Given the description of an element on the screen output the (x, y) to click on. 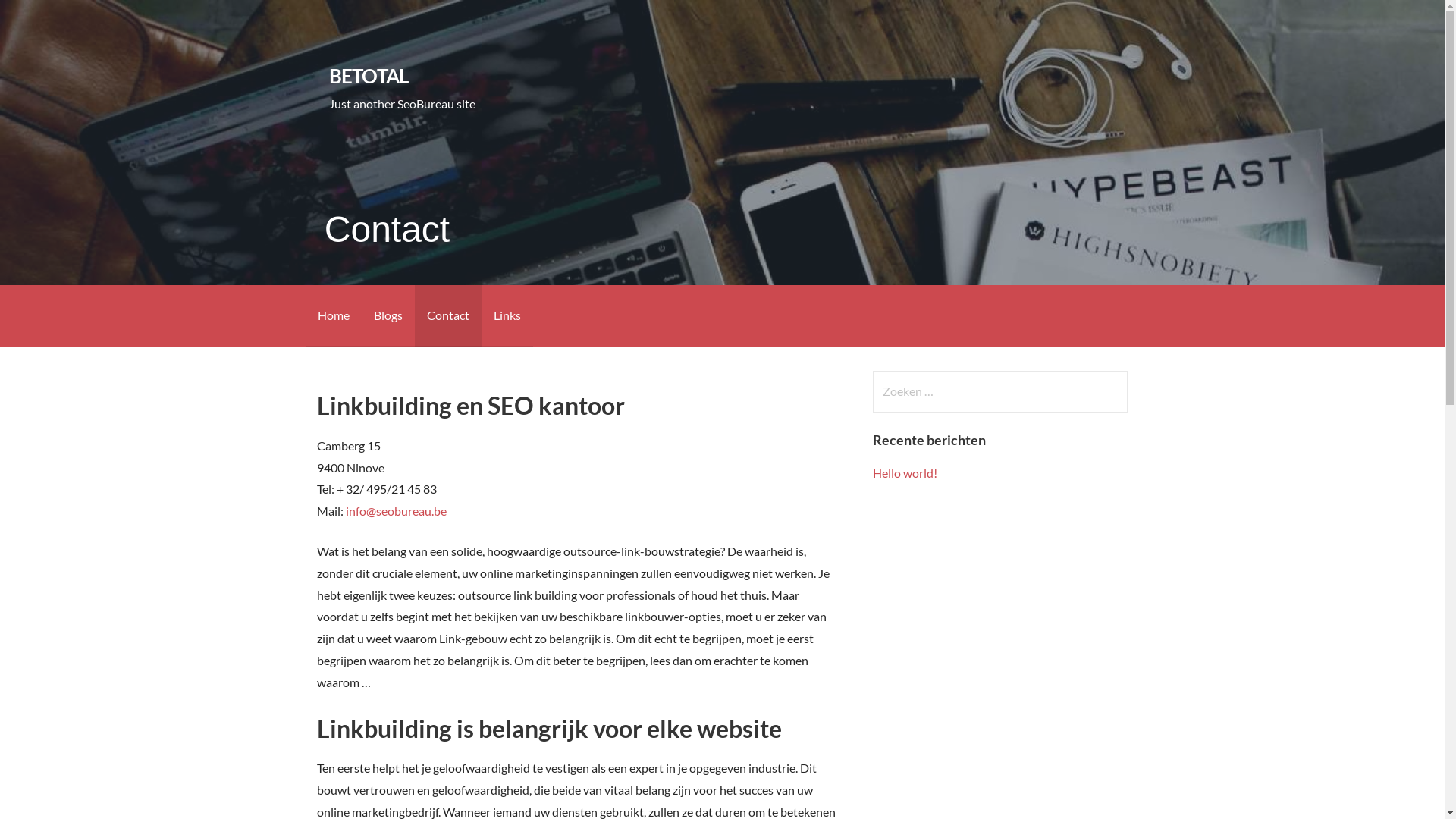
info@seobureau.be Element type: text (395, 510)
Links Element type: text (506, 315)
Blogs Element type: text (387, 315)
Hello world! Element type: text (904, 472)
Zoeken Element type: text (42, 18)
BETOTAL Element type: text (368, 75)
Contact Element type: text (447, 315)
Home Element type: text (332, 315)
